Given the description of an element on the screen output the (x, y) to click on. 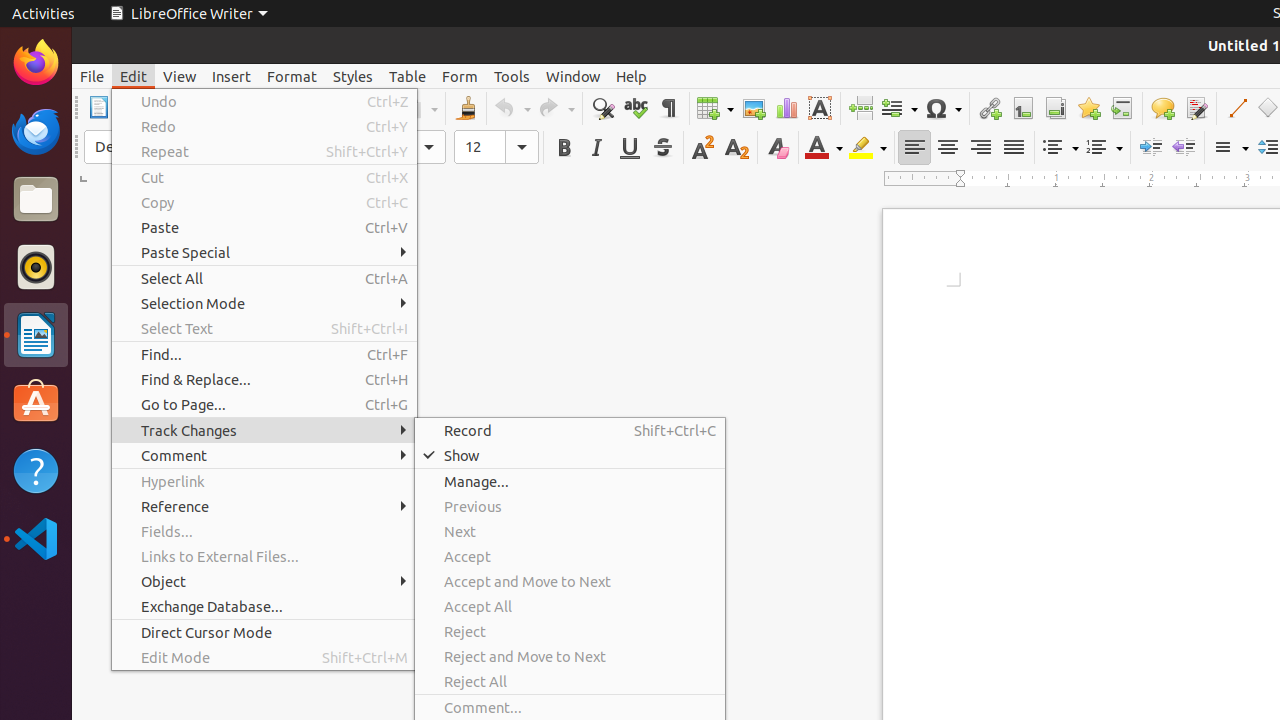
Accept All Element type: menu-item (570, 606)
File Element type: menu (92, 76)
Comment Element type: push-button (1162, 108)
Styles Element type: menu (353, 76)
Edit Element type: menu (133, 76)
